Given the description of an element on the screen output the (x, y) to click on. 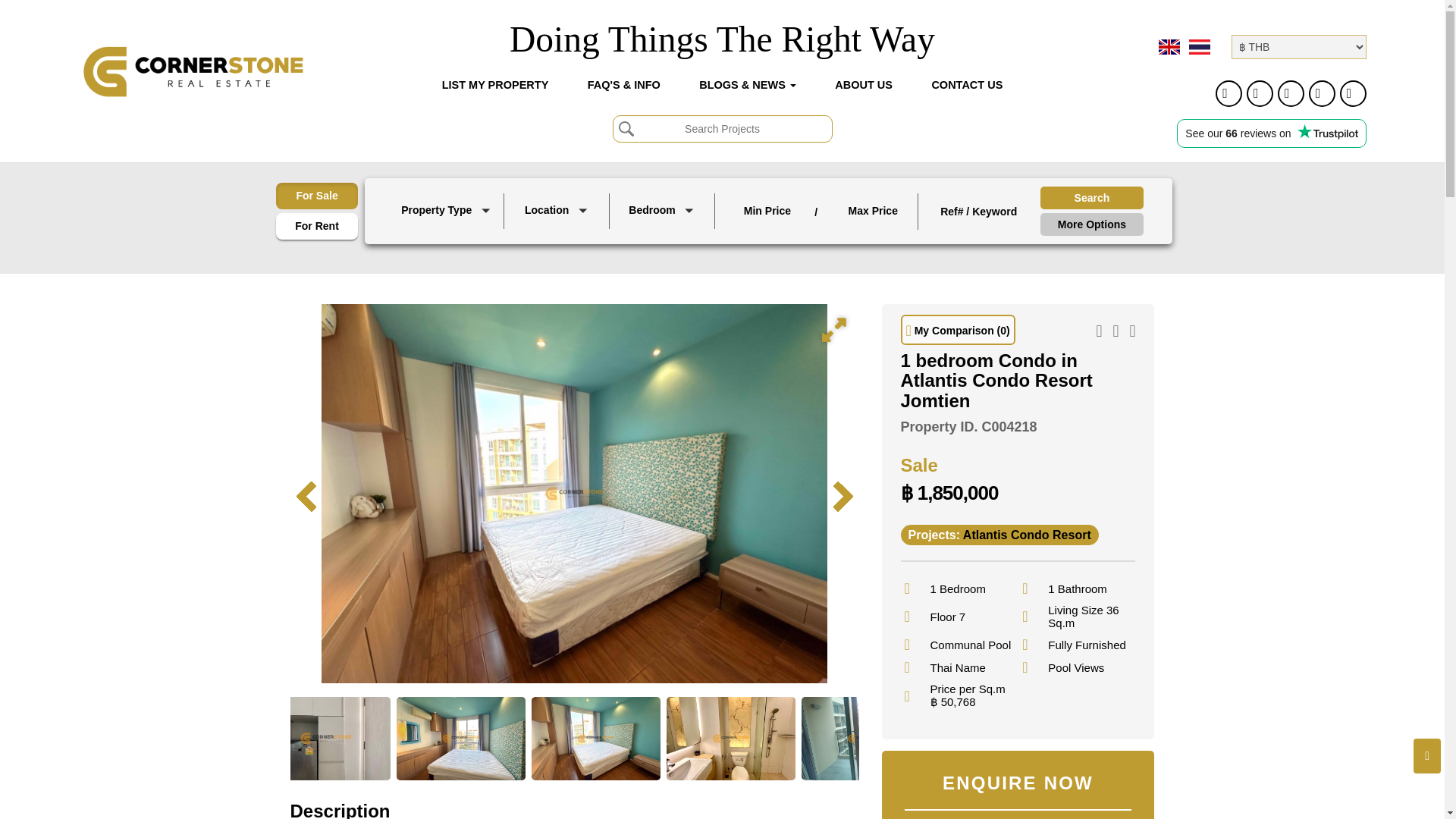
 Property Type (447, 211)
For Sale (317, 195)
Cornerstone Real Estate (192, 71)
0807945904 (1353, 93)
Customer reviews powered by Trustpilot (1271, 133)
 Bedroom (662, 211)
For Rent (317, 225)
Thai (1199, 46)
Reset (20, 11)
ABOUT US (863, 84)
More Options (1092, 223)
Search (1092, 197)
English (1168, 46)
Location (558, 211)
LIST MY PROPERTY (495, 84)
